Given the description of an element on the screen output the (x, y) to click on. 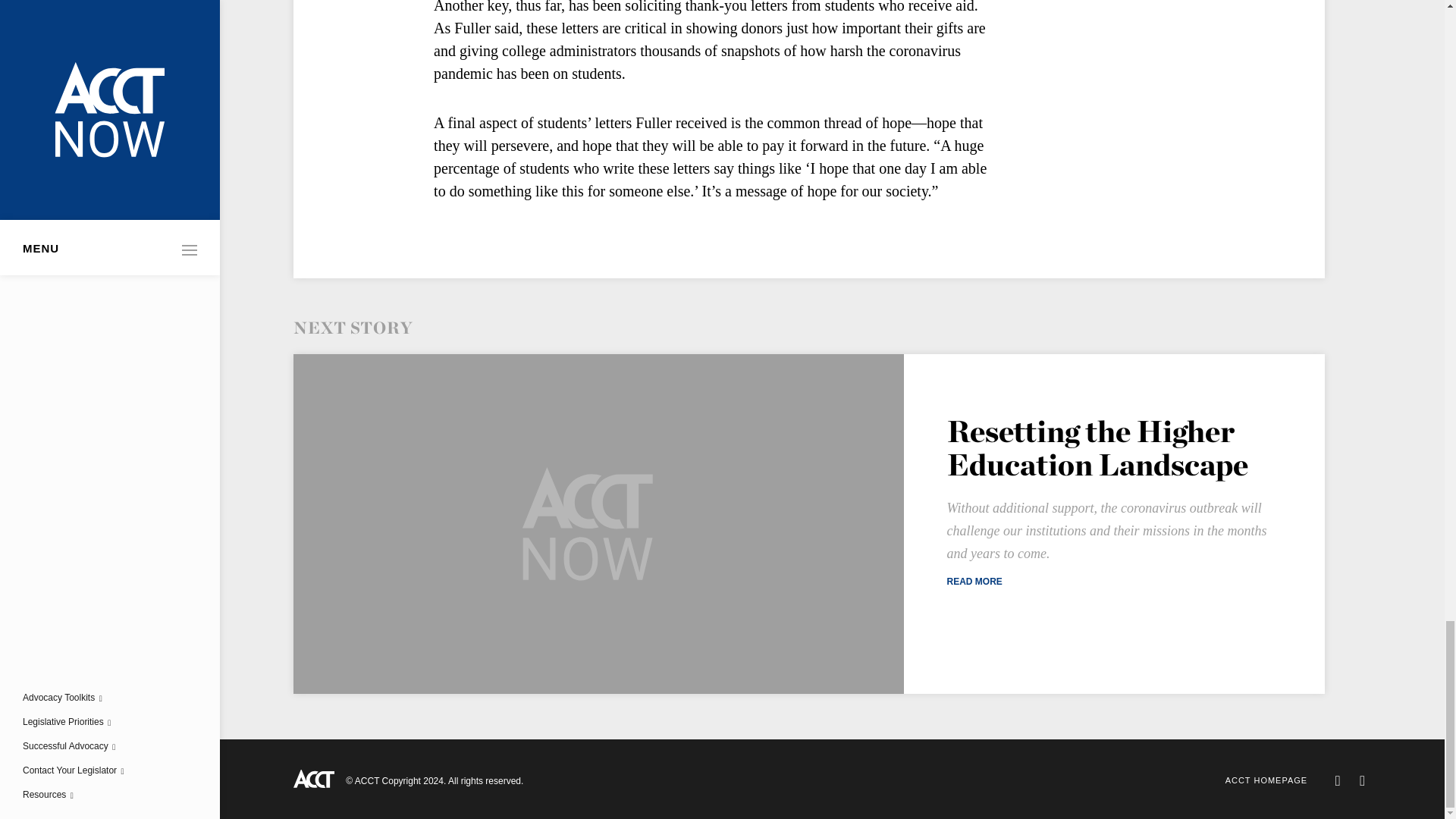
Resetting the Higher Education Landscape (1097, 448)
READ MORE (1111, 582)
ACCT HOMEPAGE (1266, 779)
